Given the description of an element on the screen output the (x, y) to click on. 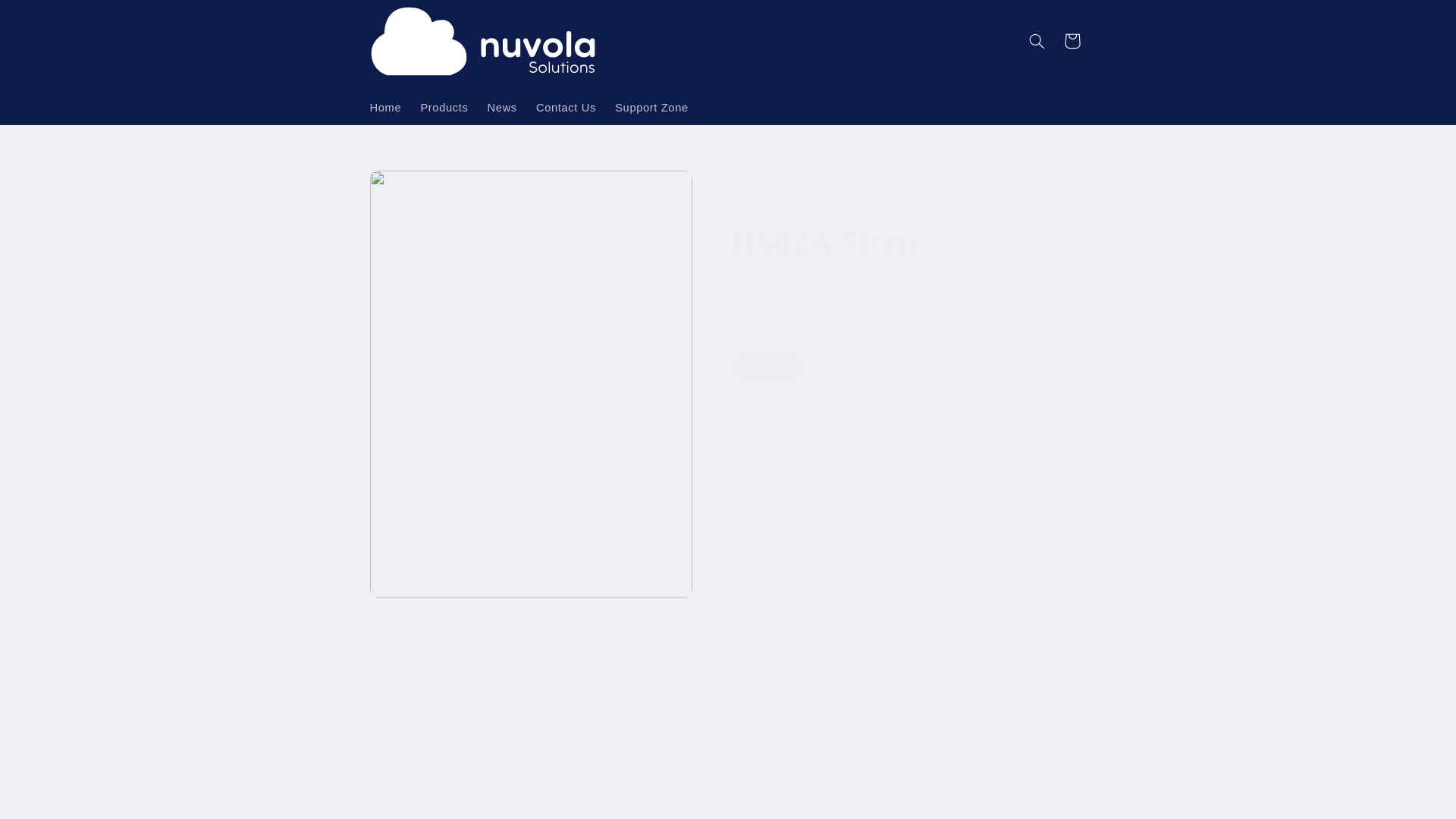
Support Zone (651, 107)
Increase quantity for R602A Siren (821, 467)
News (501, 107)
Contact Us (565, 107)
Products (443, 107)
Skip to product information (416, 188)
Add to cart (906, 524)
1 (786, 467)
Skip to content (48, 18)
Shipping (818, 308)
Cart (1071, 40)
Home (384, 107)
Decrease quantity for R602A Siren (749, 467)
